Given the description of an element on the screen output the (x, y) to click on. 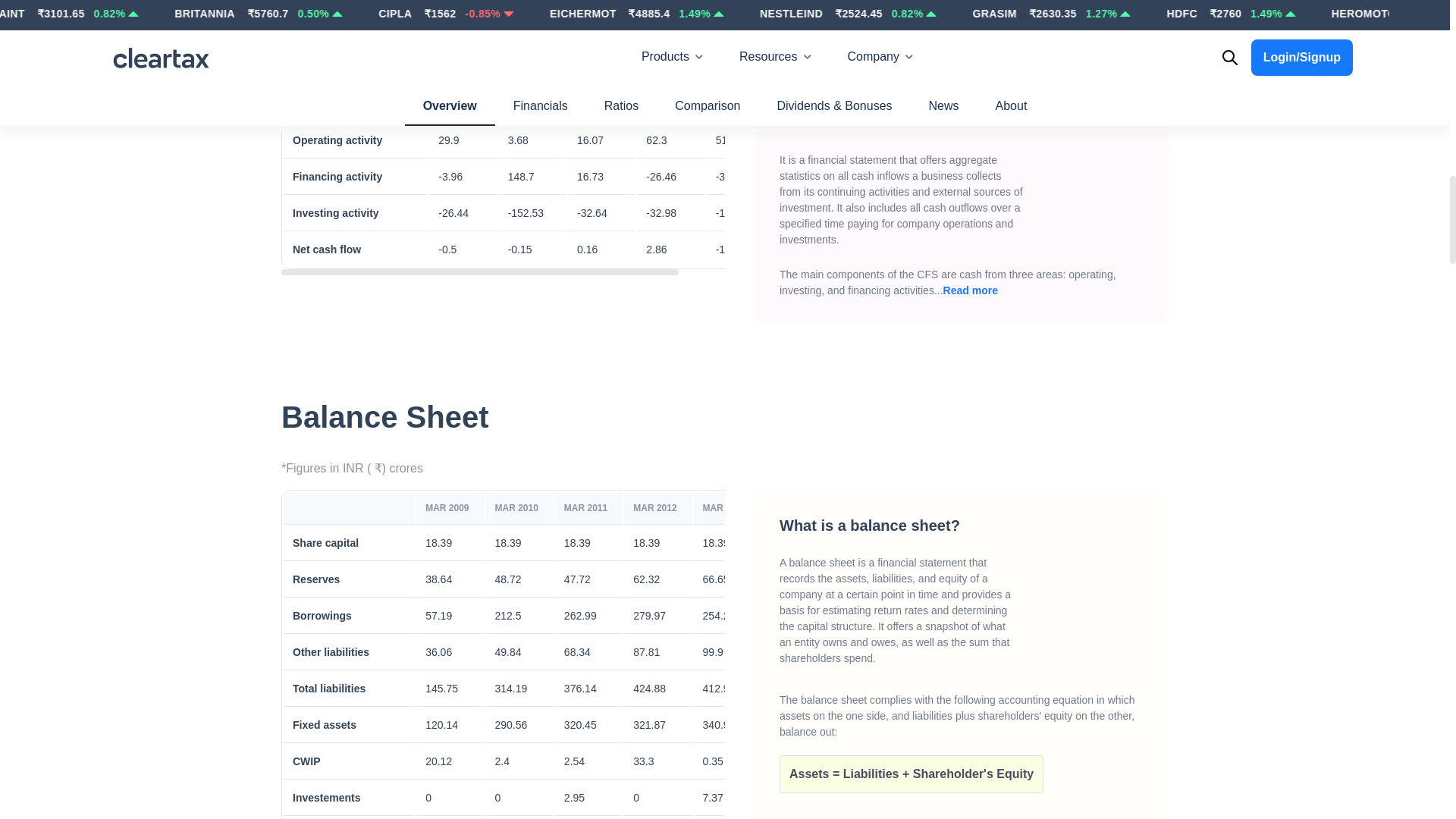
Toggle Row Expanded (333, 688)
Toggle Row Expanded (333, 543)
Toggle Row Expanded (333, 725)
Toggle Row Expanded (333, 616)
Toggle Row Expanded (333, 579)
Toggle Row Expanded (340, 213)
Toggle Row Expanded (333, 652)
Toggle Row Expanded (333, 797)
Toggle Row Expanded (340, 176)
Toggle Row Expanded (340, 249)
